Given the description of an element on the screen output the (x, y) to click on. 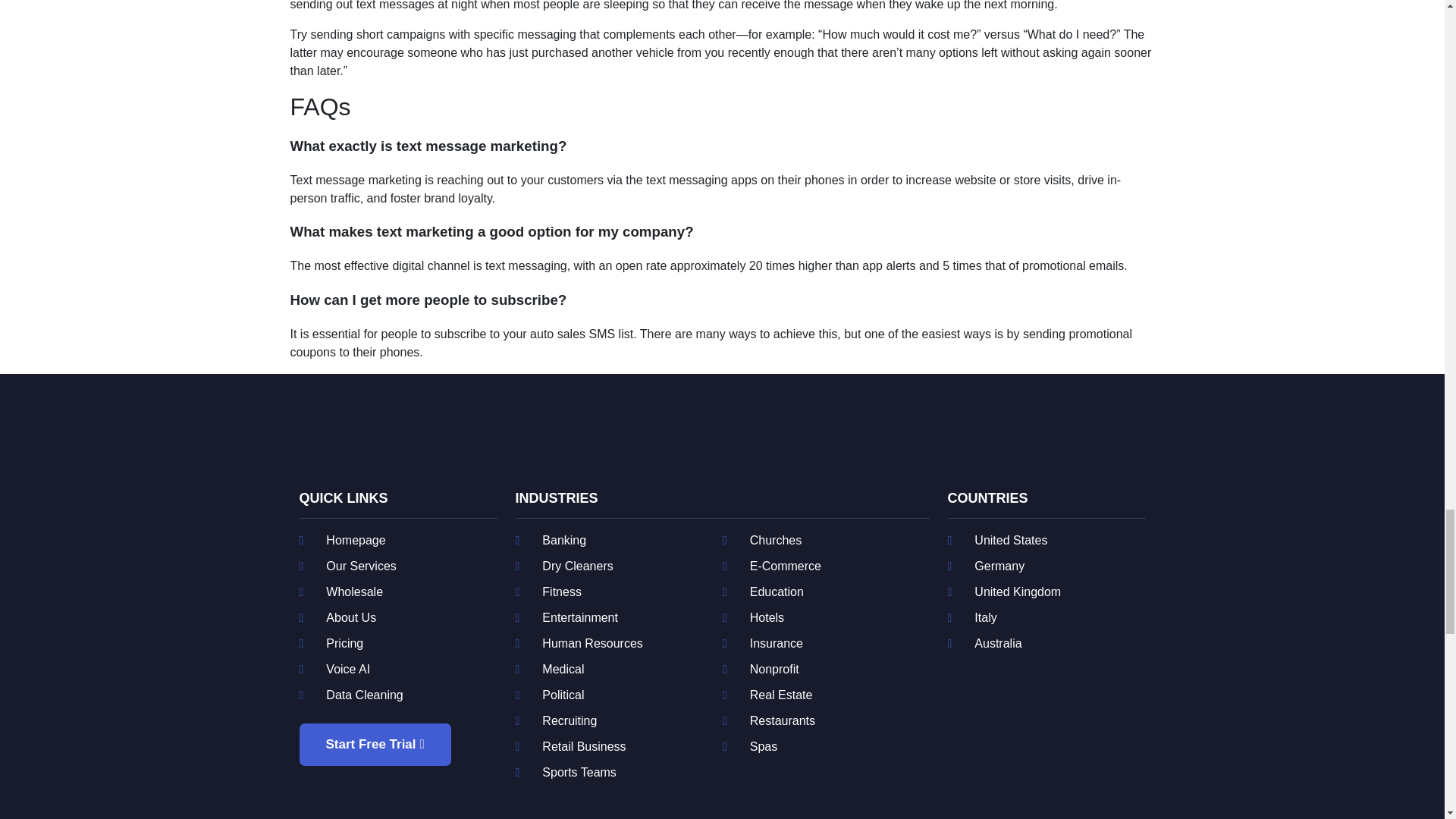
Our Services (397, 566)
Homepage (397, 540)
Wholesale (397, 592)
